Given the description of an element on the screen output the (x, y) to click on. 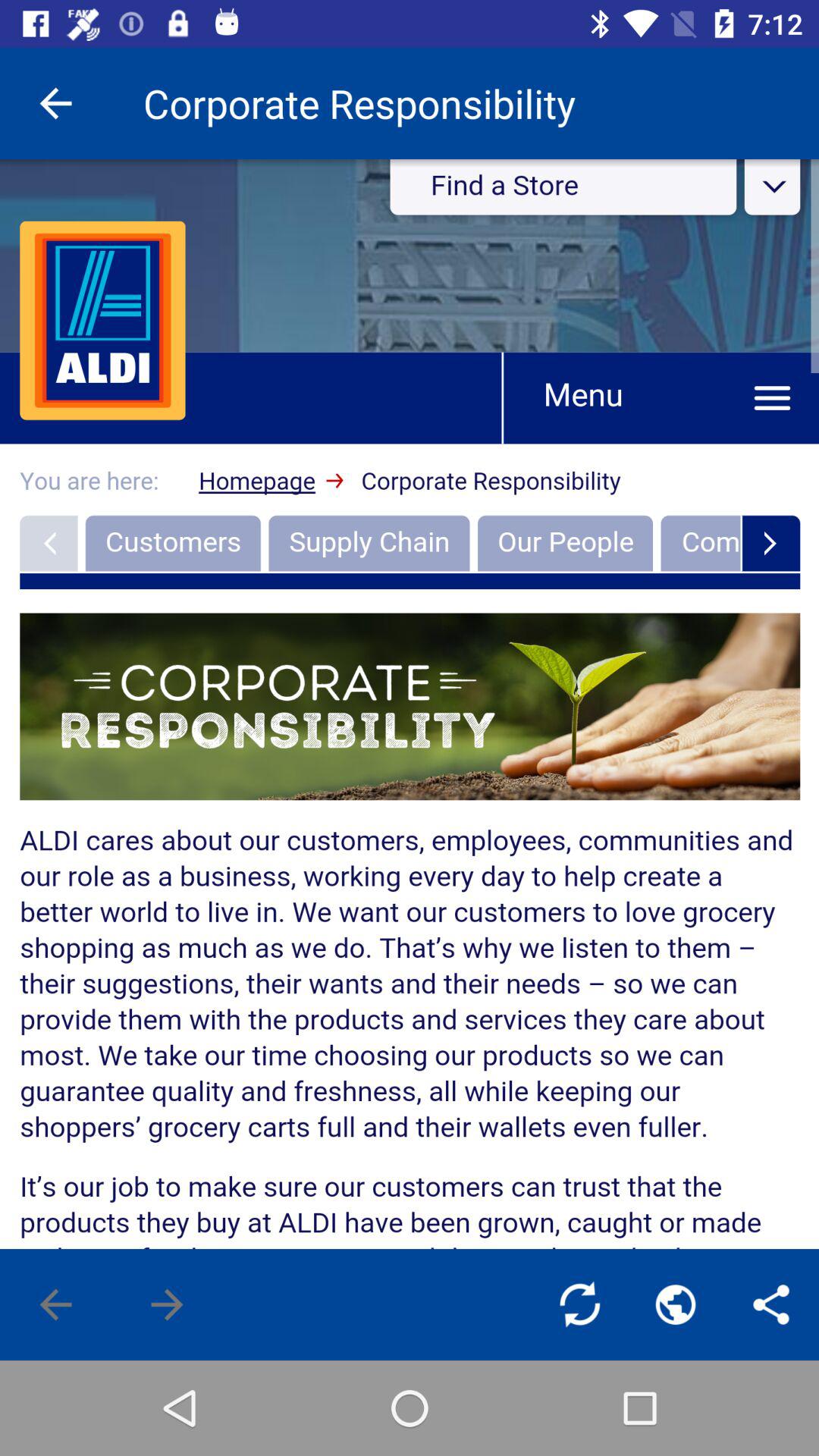
go to previous (55, 1304)
